Given the description of an element on the screen output the (x, y) to click on. 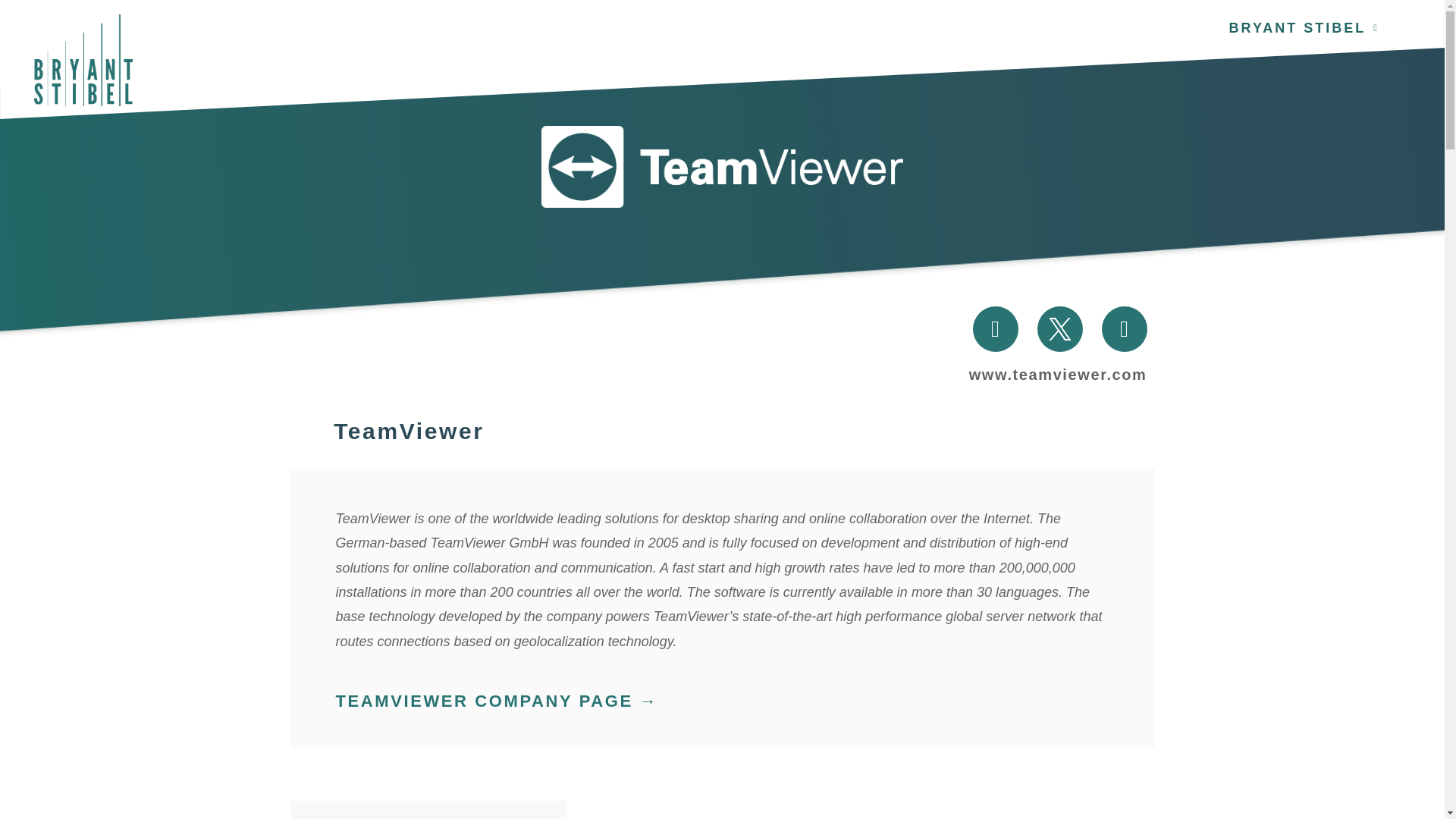
Linkedin (1123, 329)
BRYANT STIBEL (1303, 7)
www.teamviewer.com (1058, 374)
Instagram (994, 329)
